Given the description of an element on the screen output the (x, y) to click on. 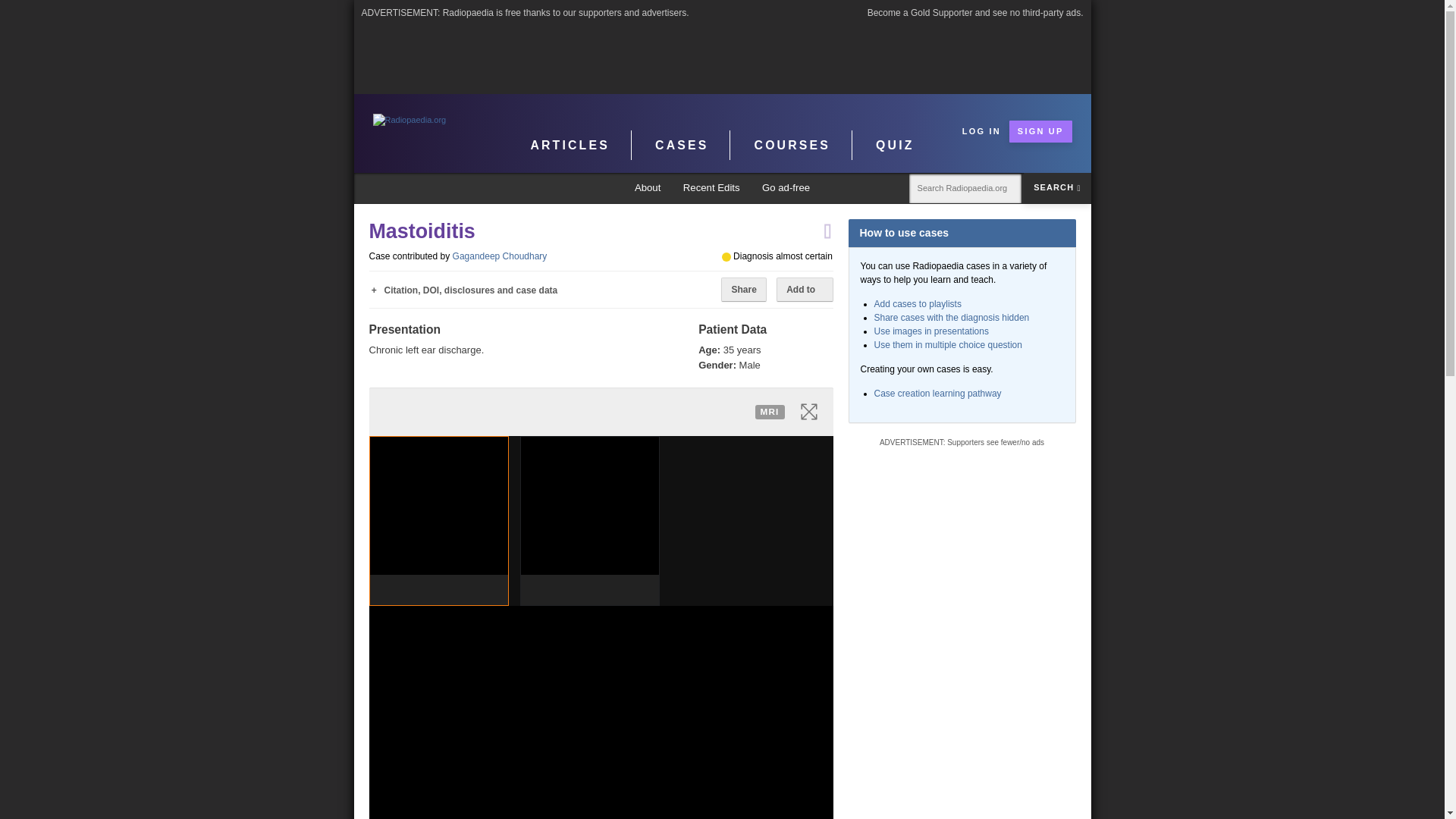
Go ad-free (785, 187)
ARTICLES (569, 145)
About (647, 187)
Add to (804, 289)
CASES (681, 145)
SIGN UP (1040, 131)
Share (742, 289)
COURSES (791, 145)
QUIZ (895, 145)
Gagandeep Choudhary (499, 255)
